Given the description of an element on the screen output the (x, y) to click on. 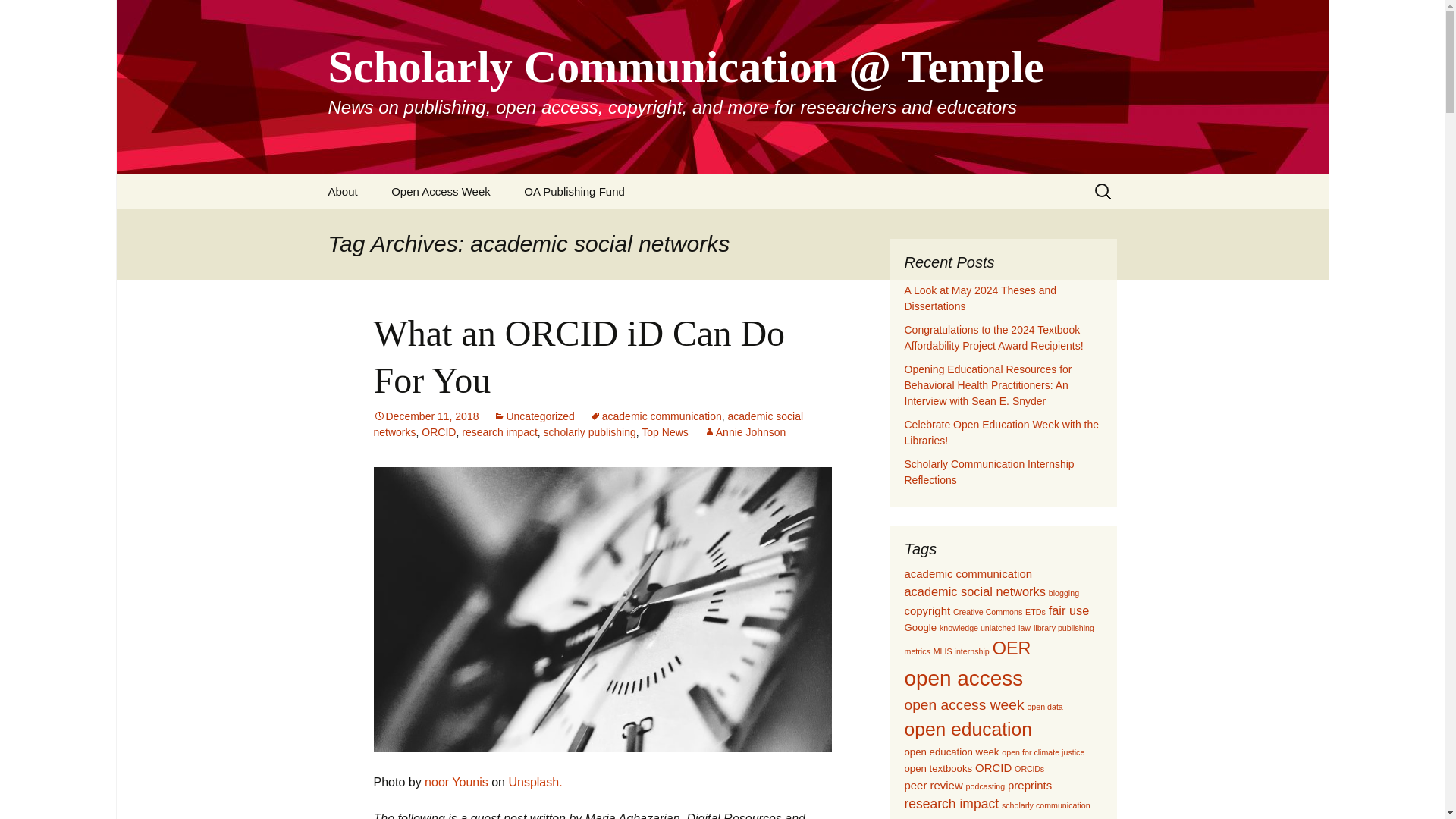
Top News (664, 431)
View all posts by Annie Johnson (744, 431)
academic communication (655, 416)
Permalink to What an ORCID iD Can Do For You (425, 416)
OA Publishing Fund (574, 191)
December 11, 2018 (425, 416)
scholarly publishing (589, 431)
Unsplash. (535, 781)
What an ORCID iD Can Do For You (578, 356)
Search (18, 15)
Annie Johnson (744, 431)
Uncategorized (533, 416)
noor Younis (456, 781)
Open Access Week (440, 191)
